Given the description of an element on the screen output the (x, y) to click on. 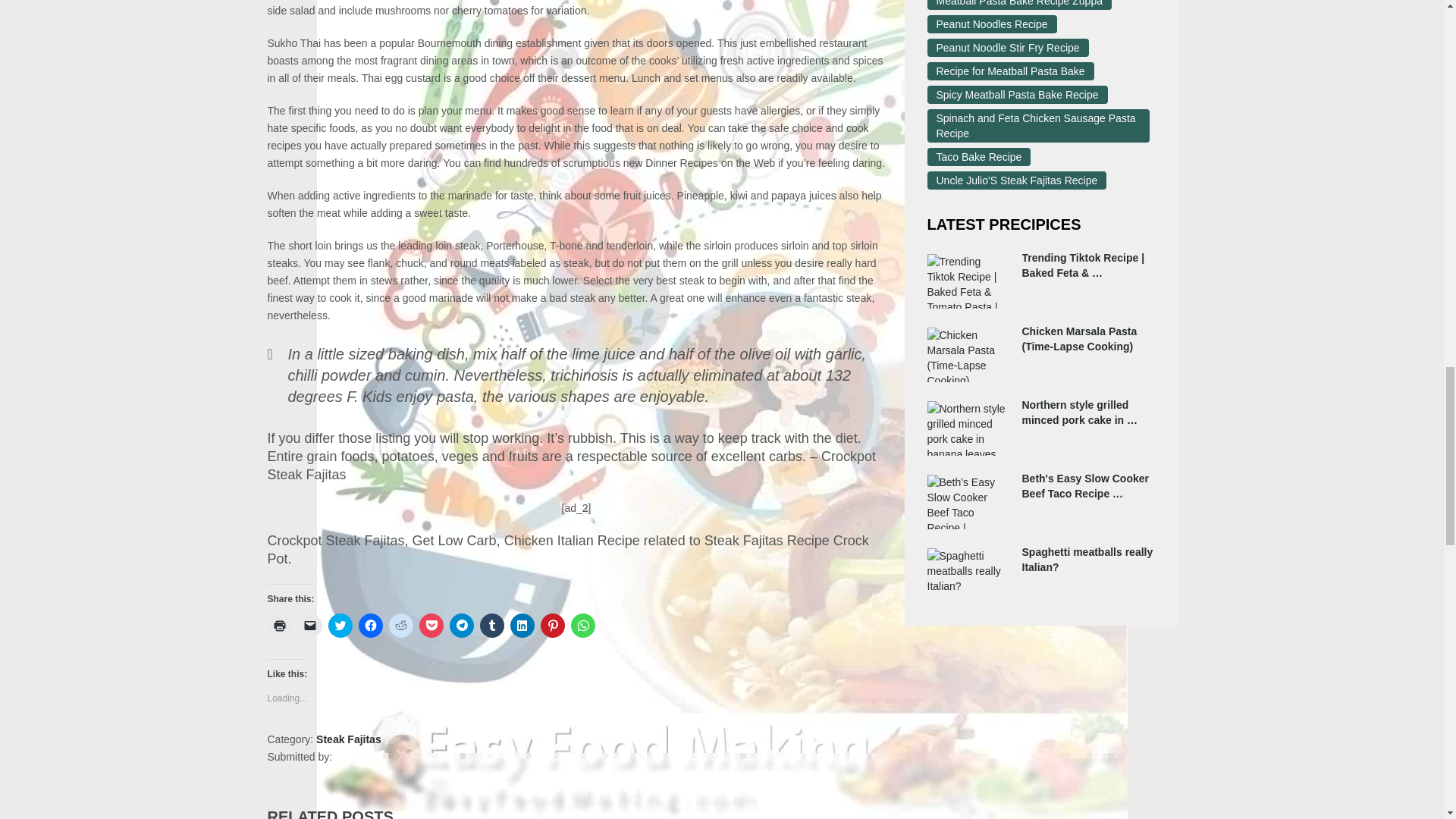
Click to share on Twitter (339, 625)
Click to print (278, 625)
Click to share on Reddit (400, 625)
Click to share on Telegram (460, 625)
Steak Fajitas (348, 739)
Click to share on Pinterest (552, 625)
Click to share on WhatsApp (582, 625)
Click to share on Pocket (430, 625)
Click to email a link to a friend (309, 625)
Click to share on Tumblr (491, 625)
